Given the description of an element on the screen output the (x, y) to click on. 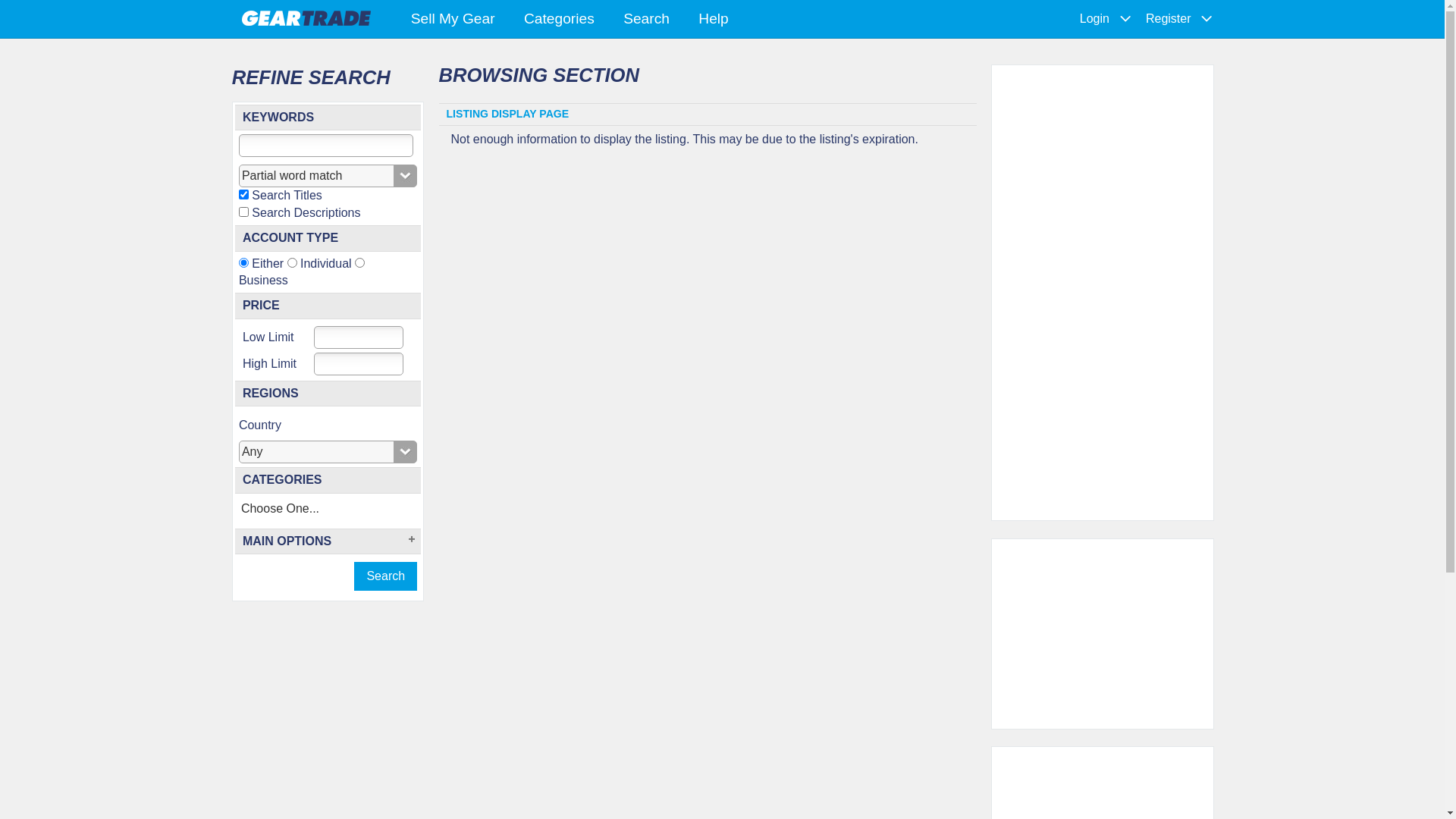
Login Element type: text (1094, 18)
Search Element type: text (646, 19)
Help Element type: text (713, 19)
GearTrade Element type: hover (305, 16)
Search Element type: text (385, 575)
Sell My Gear Element type: text (451, 19)
Register Element type: text (1168, 18)
